Given the description of an element on the screen output the (x, y) to click on. 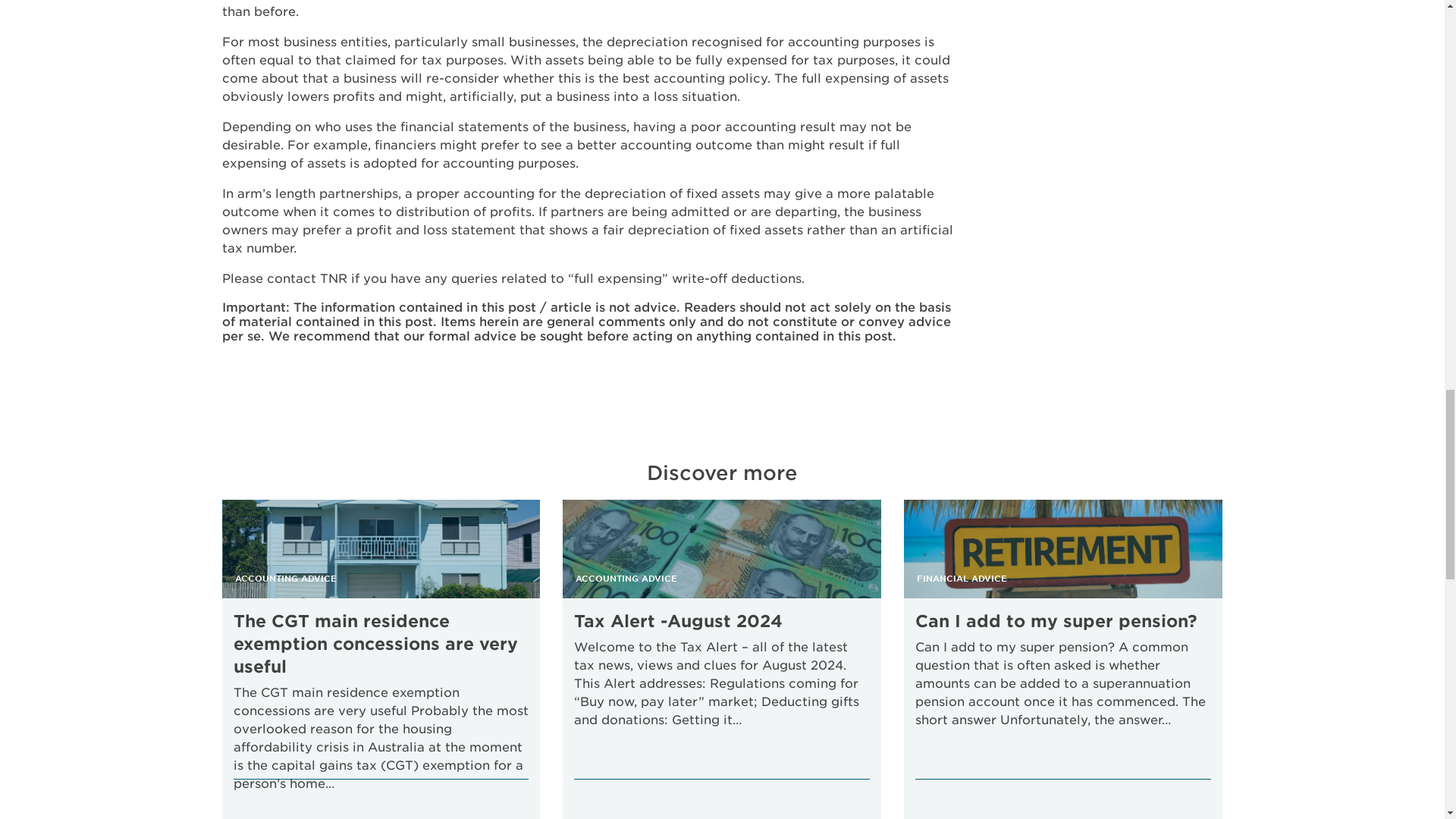
Permalink to Tax Alert -August 2024 (678, 620)
Permalink to Can I add to my super pension? (1055, 620)
